Given the description of an element on the screen output the (x, y) to click on. 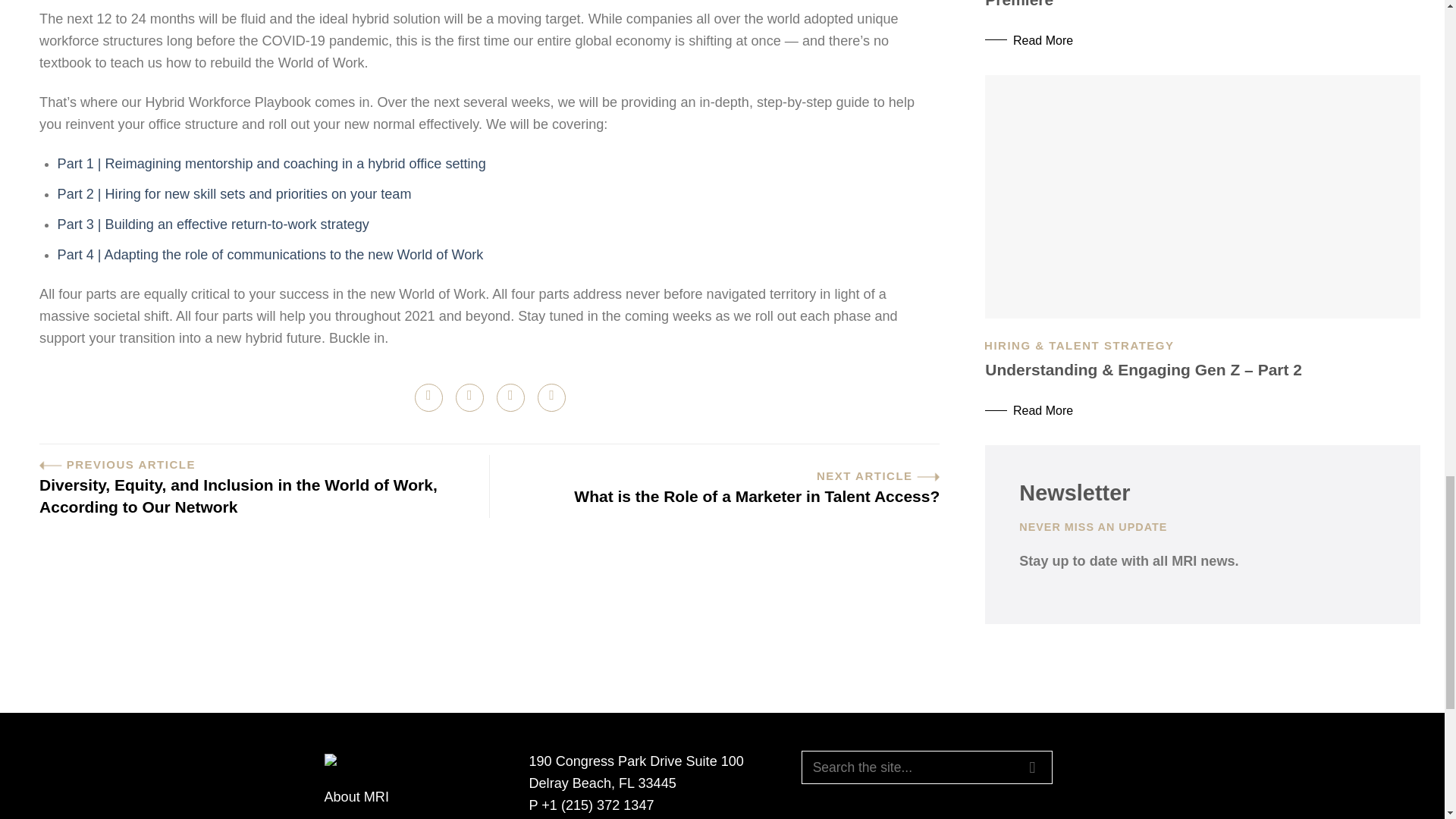
MRINetwork: United in Excellence Documentary Premiere (1203, 33)
Share on Twitter (469, 397)
Email to a Friend (510, 397)
Share on LinkedIn (551, 397)
Share on Facebook (428, 397)
